Given the description of an element on the screen output the (x, y) to click on. 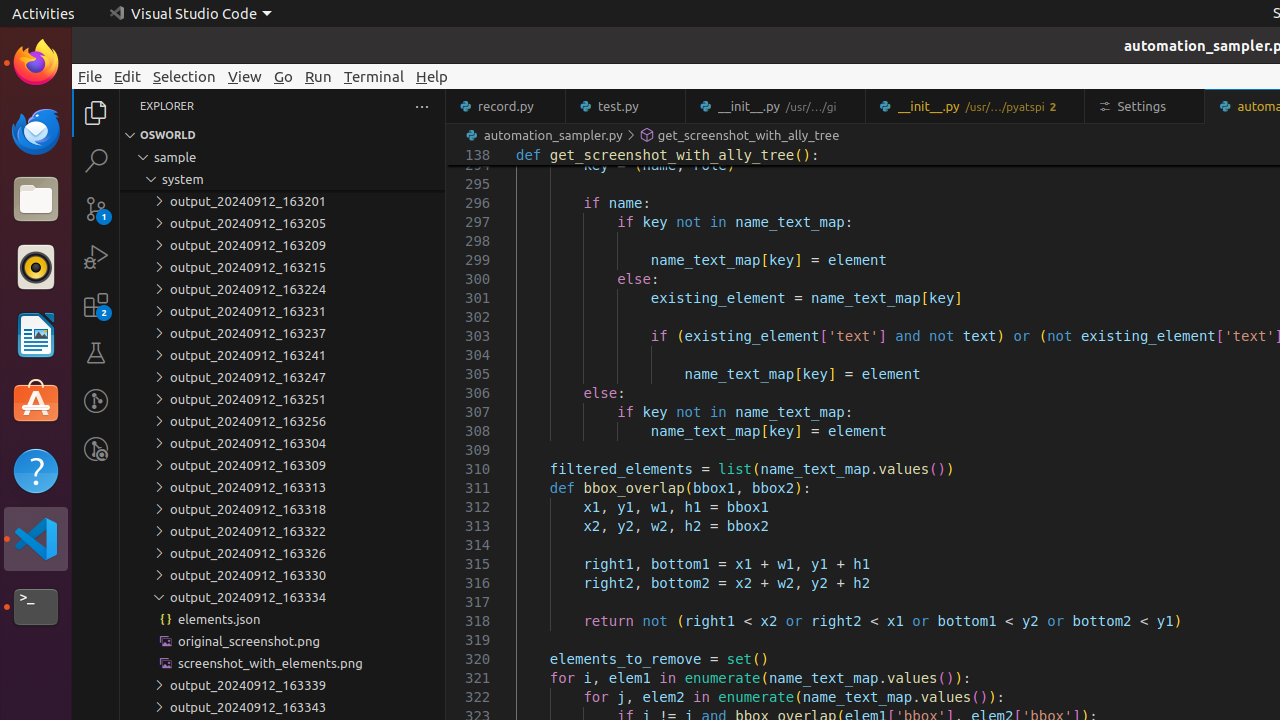
Explorer (Ctrl+Shift+E) Element type: page-tab (96, 113)
output_20240912_163343 Element type: tree-item (282, 707)
output_20240912_163247 Element type: tree-item (282, 377)
output_20240912_163304 Element type: tree-item (282, 443)
Selection Element type: push-button (184, 76)
